Given the description of an element on the screen output the (x, y) to click on. 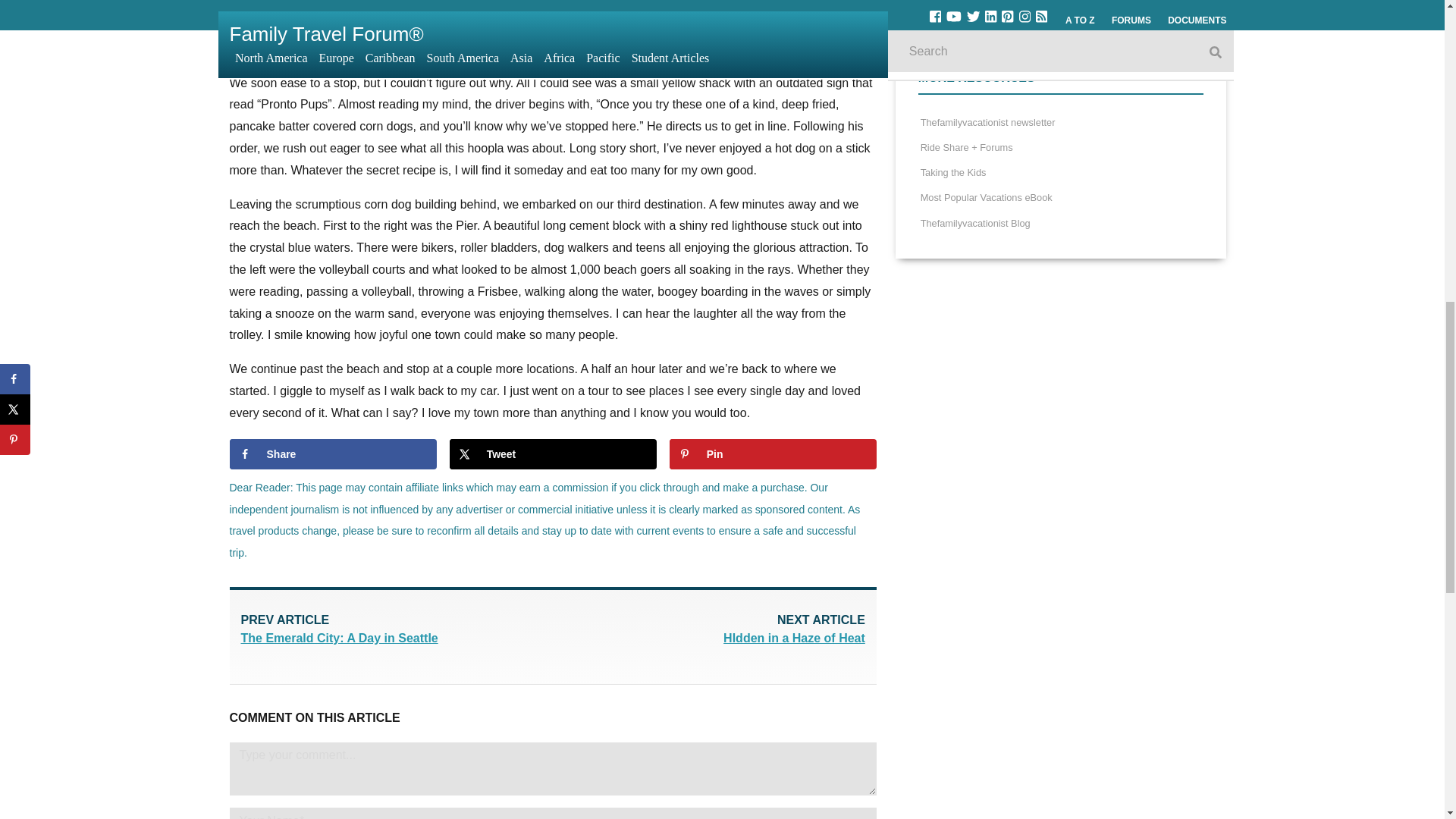
Share on Facebook (331, 453)
Save to Pinterest (772, 453)
Share on X (552, 453)
Pin (710, 631)
Tweet (395, 631)
Share (772, 453)
